Given the description of an element on the screen output the (x, y) to click on. 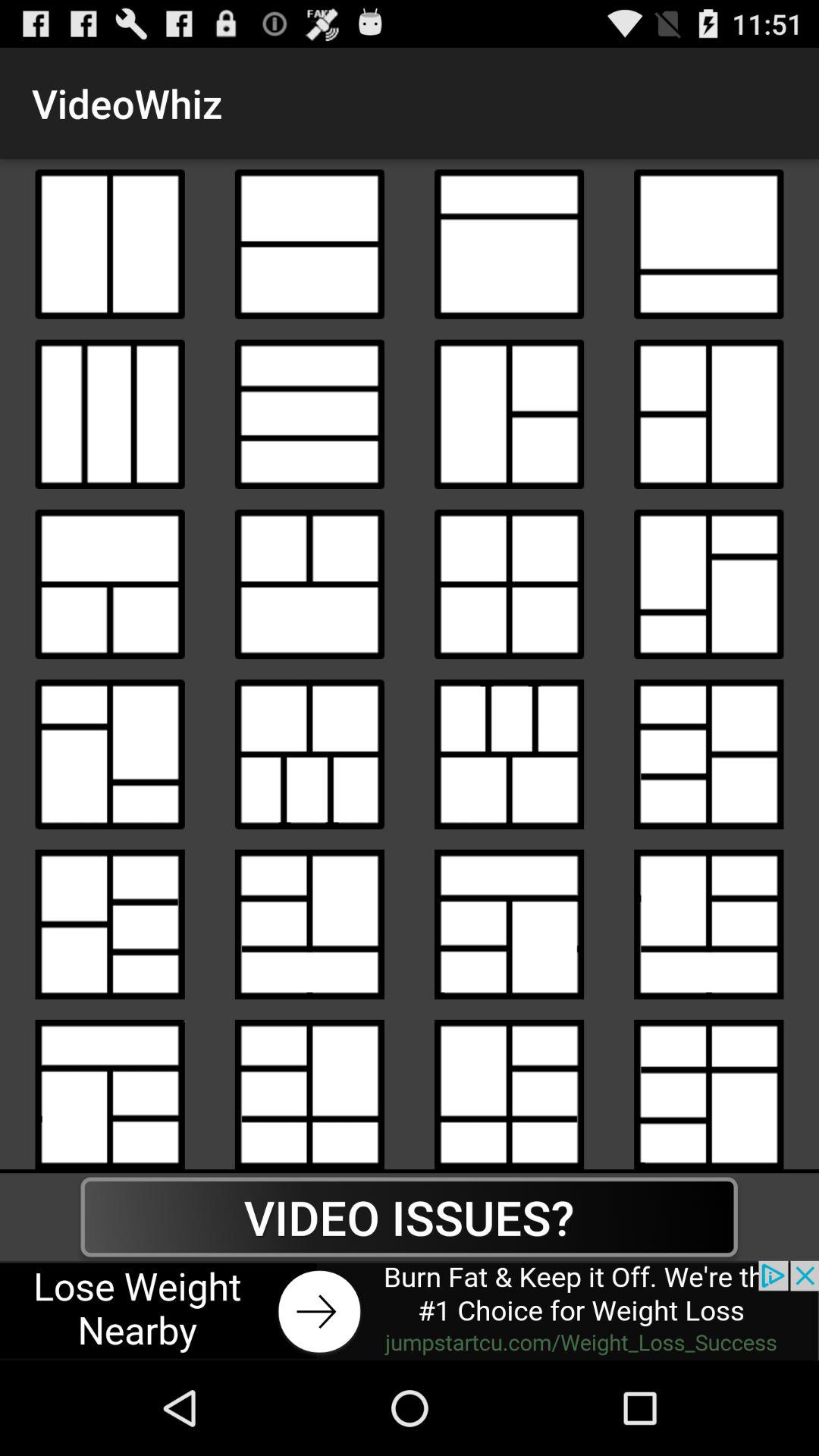
select design (309, 754)
